Given the description of an element on the screen output the (x, y) to click on. 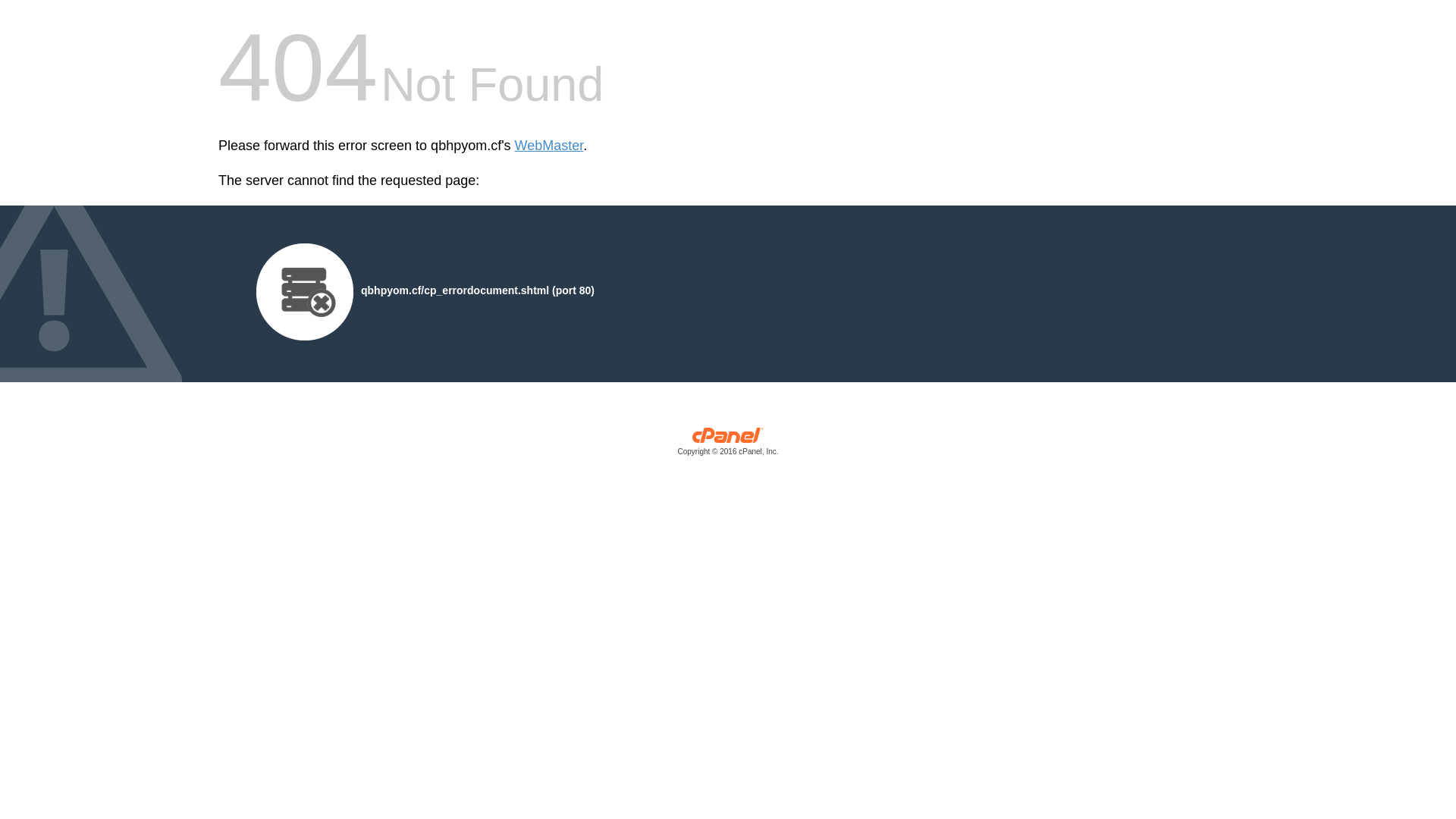
WebMaster Element type: text (548, 145)
